Given the description of an element on the screen output the (x, y) to click on. 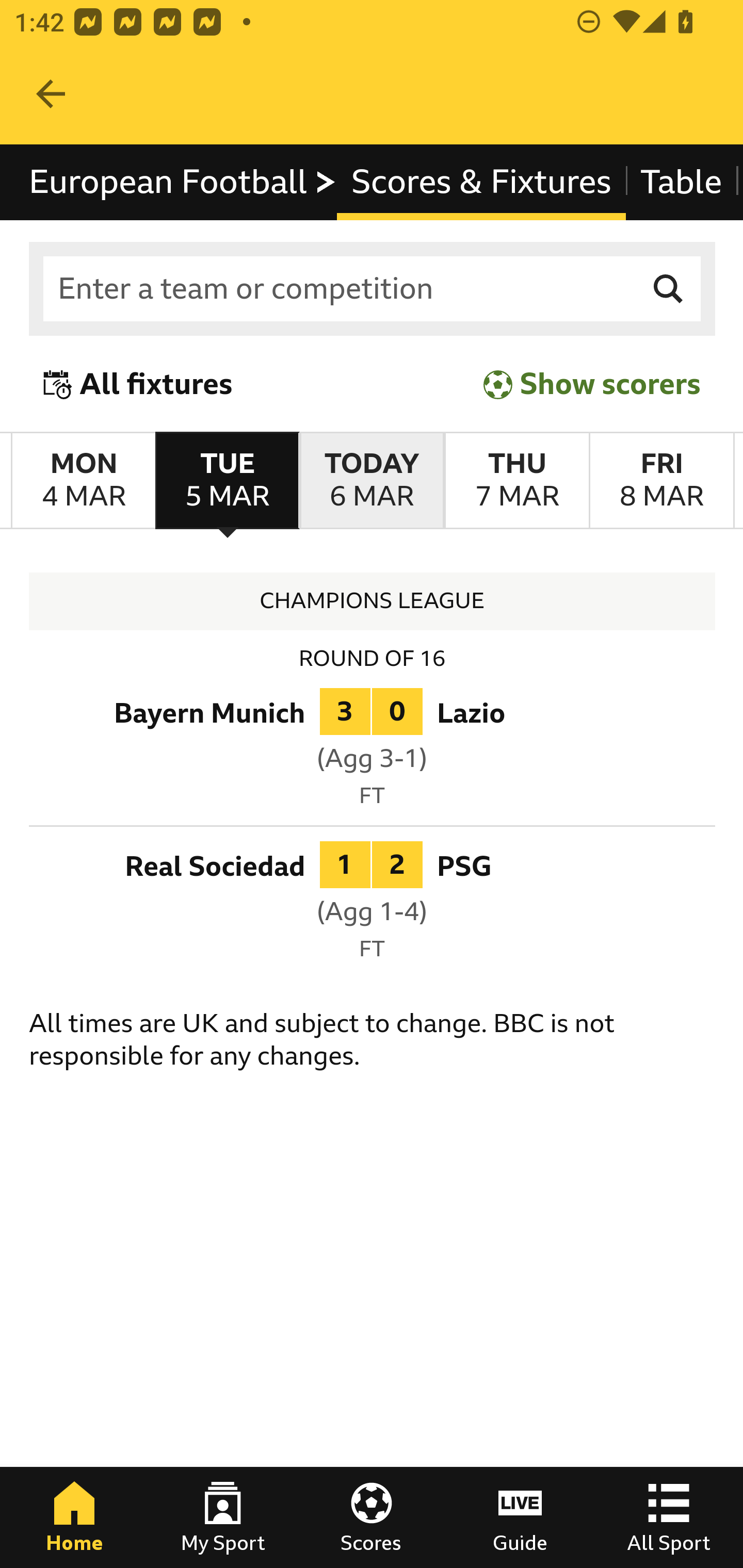
Navigate up (50, 93)
European Football  (182, 181)
Scores & Fixtures (480, 181)
Table (681, 181)
Search (669, 289)
All fixtures (137, 383)
Show scorers (591, 383)
MondayMarch 4th Monday March 4th (83, 480)
TodayMarch 6th Today March 6th (371, 480)
ThursdayMarch 7th Thursday March 7th (516, 480)
FridayMarch 8th Friday March 8th (661, 480)
My Sport (222, 1517)
Scores (371, 1517)
Guide (519, 1517)
All Sport (668, 1517)
